Given the description of an element on the screen output the (x, y) to click on. 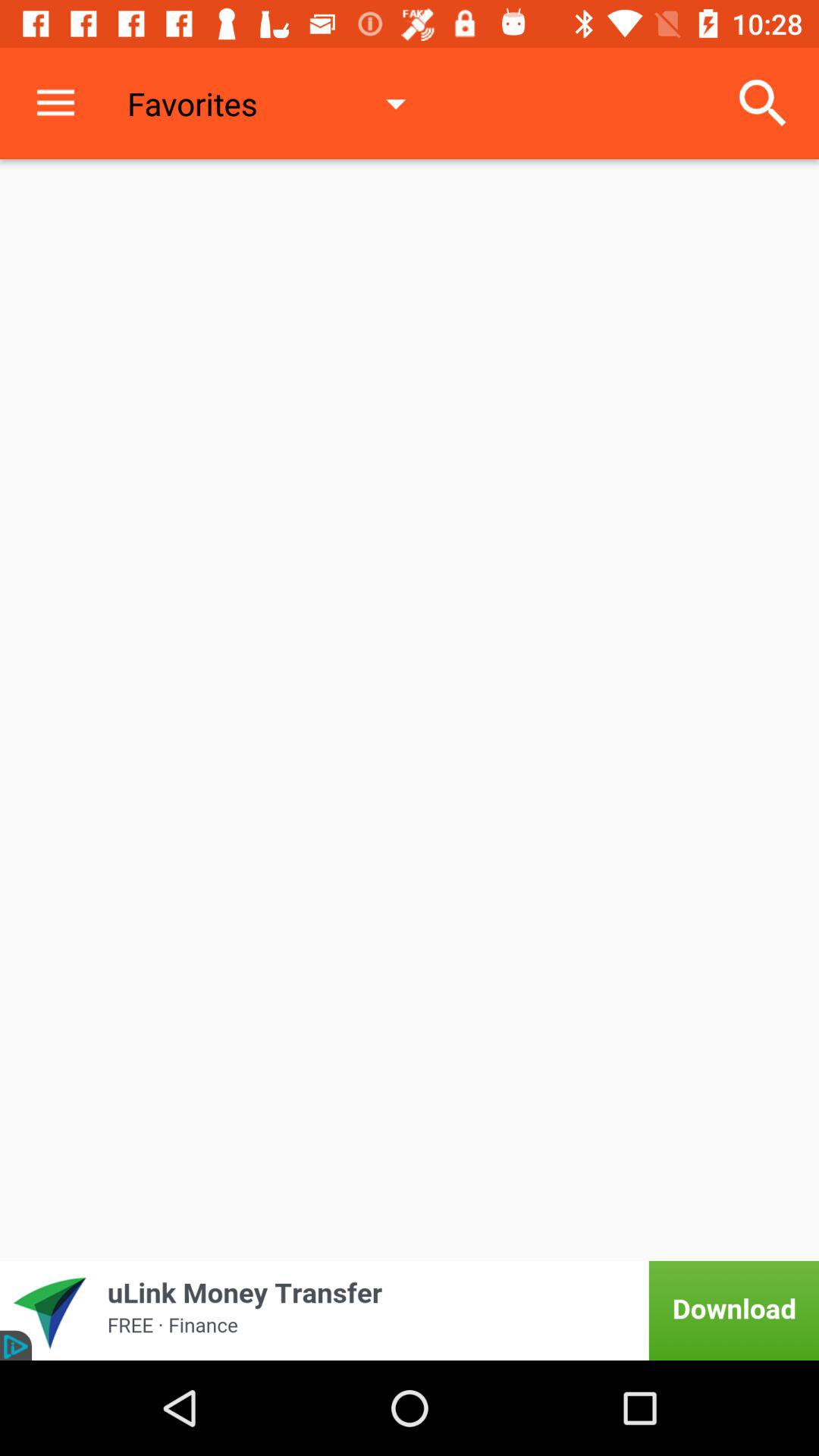
advertisement banner (409, 1310)
